Given the description of an element on the screen output the (x, y) to click on. 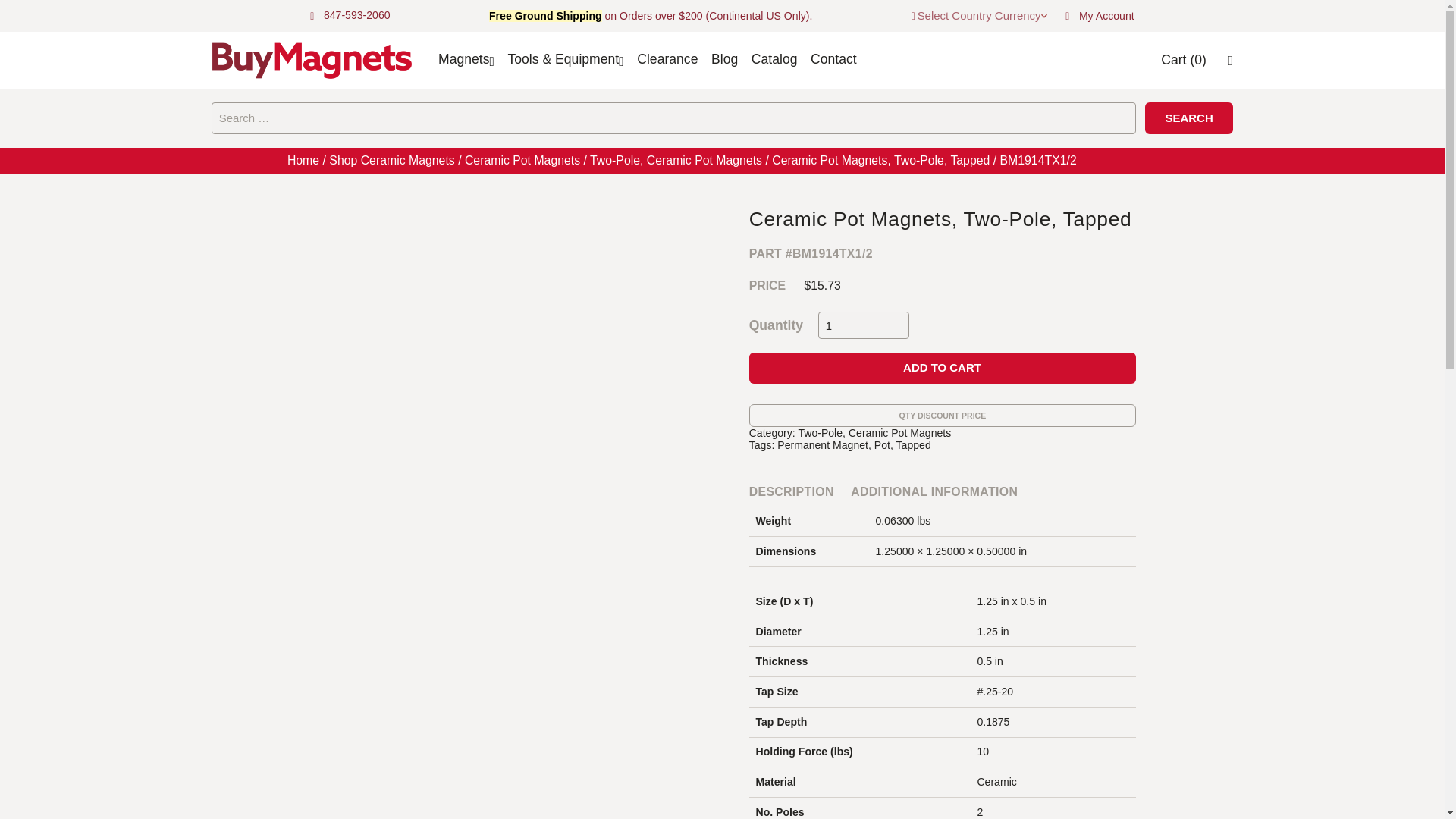
View your shopping cart (1183, 59)
My Account (1106, 15)
Magnets (463, 58)
847-593-2060 (356, 15)
Search (1188, 118)
Search (1188, 118)
1 (863, 325)
